Given the description of an element on the screen output the (x, y) to click on. 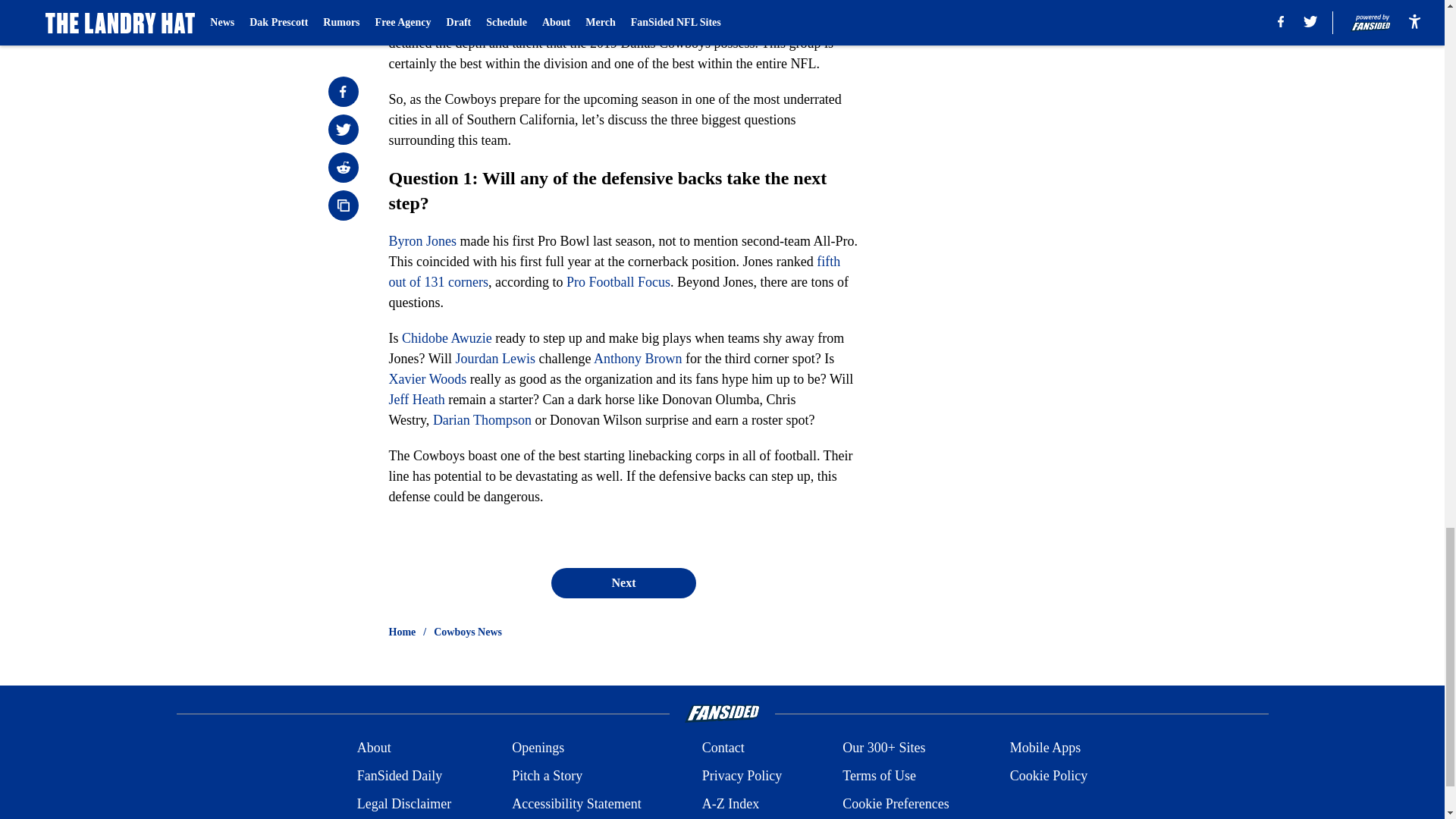
Pro Football Focus (617, 281)
Next (622, 583)
Home (401, 631)
Jourdan Lewis (494, 358)
fifth out of 131 corners (614, 271)
Chidobe Awuzie (446, 337)
Jeff Heath (416, 399)
Xavier Woods (426, 378)
Cowboys News (467, 631)
Byron Jones (422, 240)
